Given the description of an element on the screen output the (x, y) to click on. 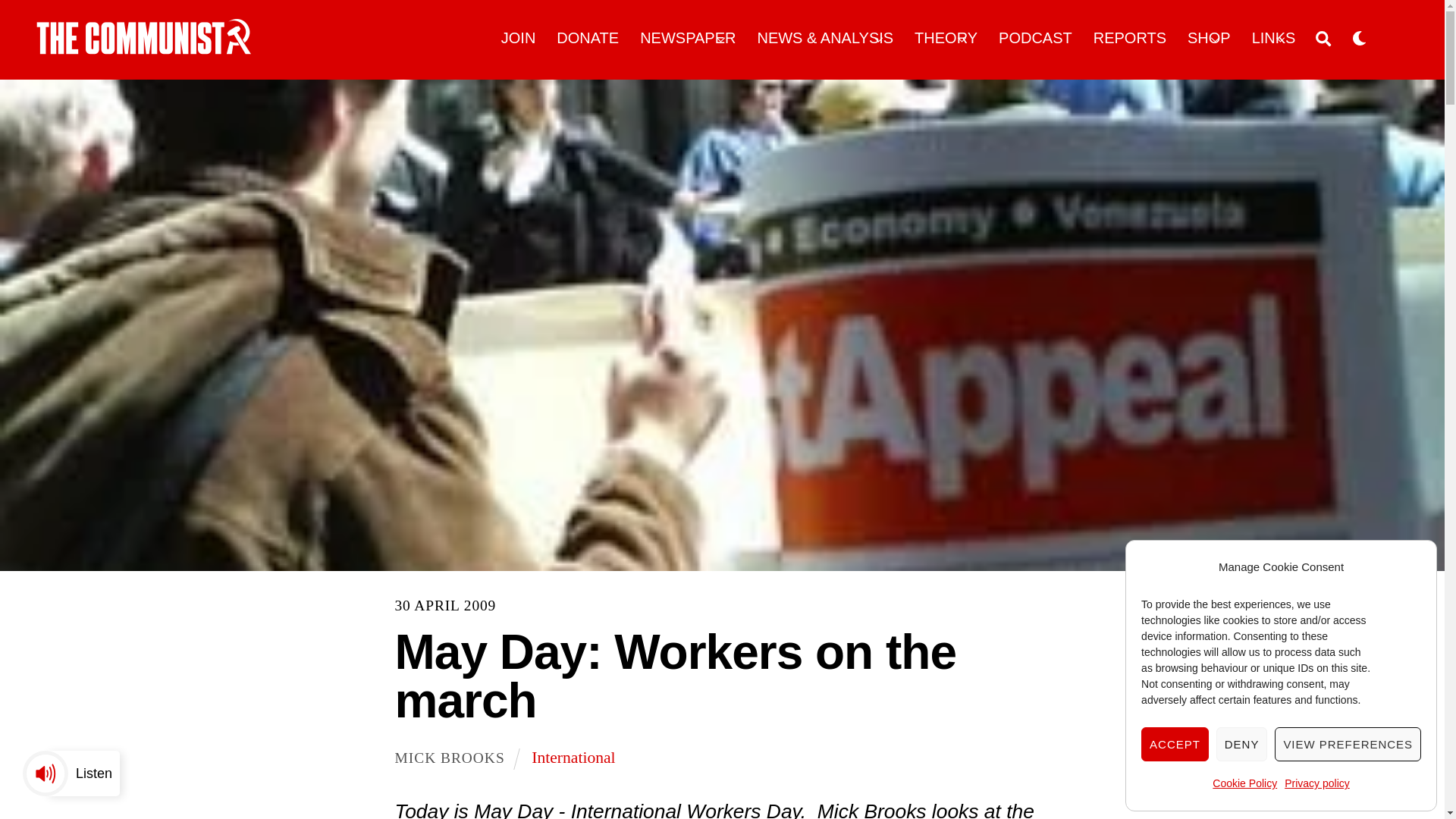
ACCEPT (1174, 744)
Privacy policy (1316, 784)
The Communist (143, 49)
Cookie Policy (1244, 784)
DONATE (587, 37)
NEWSPAPER (688, 37)
The Communist (143, 37)
DENY (1241, 744)
VIEW PREFERENCES (1348, 744)
